Given the description of an element on the screen output the (x, y) to click on. 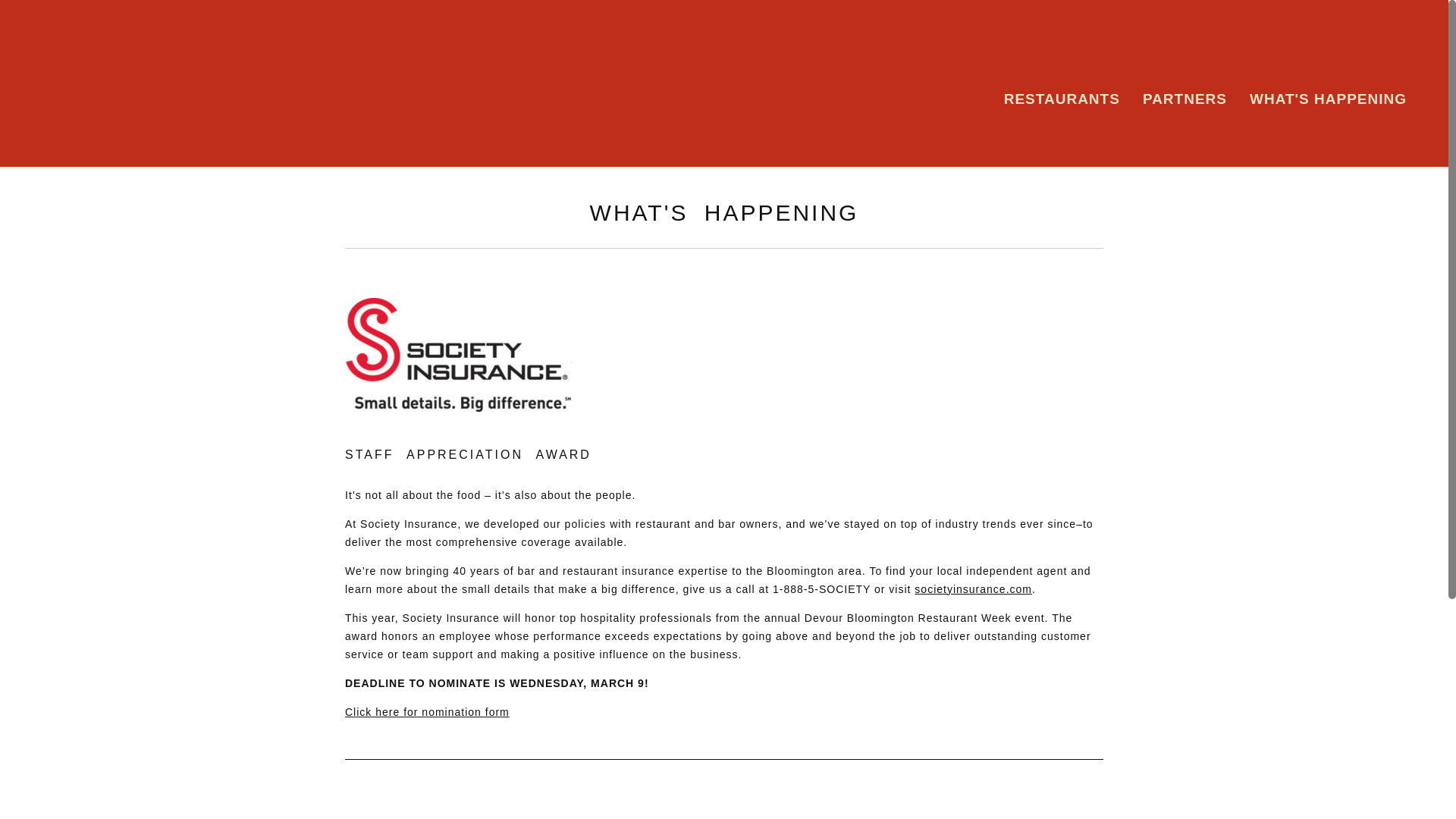
Click here for nomination form (427, 711)
Home Page (113, 83)
RESTAURANTS (1061, 98)
WHAT'S HAPPENING (1327, 98)
societyinsurance.com (973, 589)
PARTNERS (1184, 98)
